Given the description of an element on the screen output the (x, y) to click on. 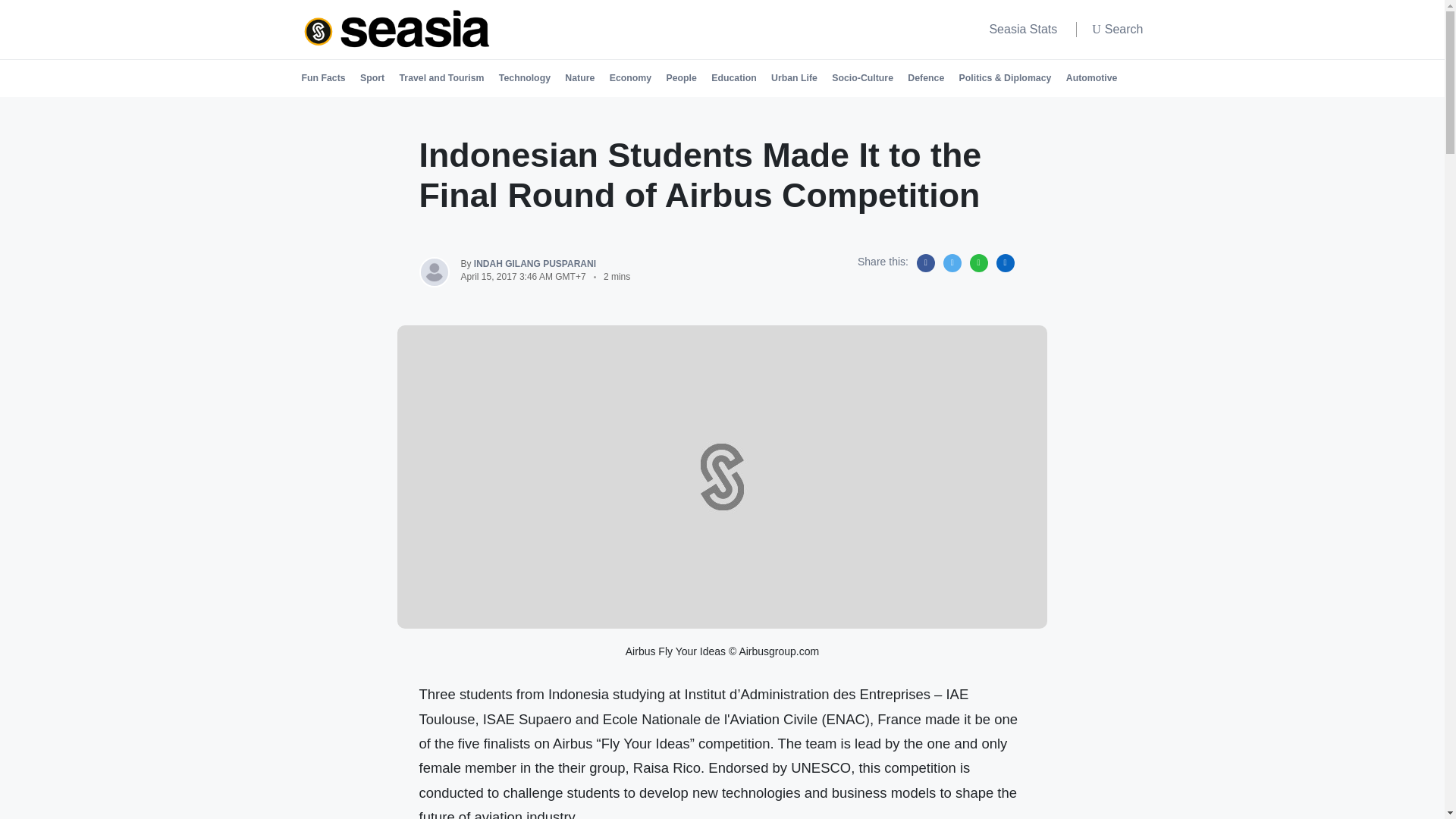
Defence (925, 77)
Travel and Tourism (440, 77)
Socio-Culture (862, 77)
Search (1117, 29)
Seasia Stats (1022, 29)
Seasia.co (398, 28)
Education (734, 77)
Technology (524, 77)
Fun Facts (323, 77)
Seasia Stats (1022, 29)
